Given the description of an element on the screen output the (x, y) to click on. 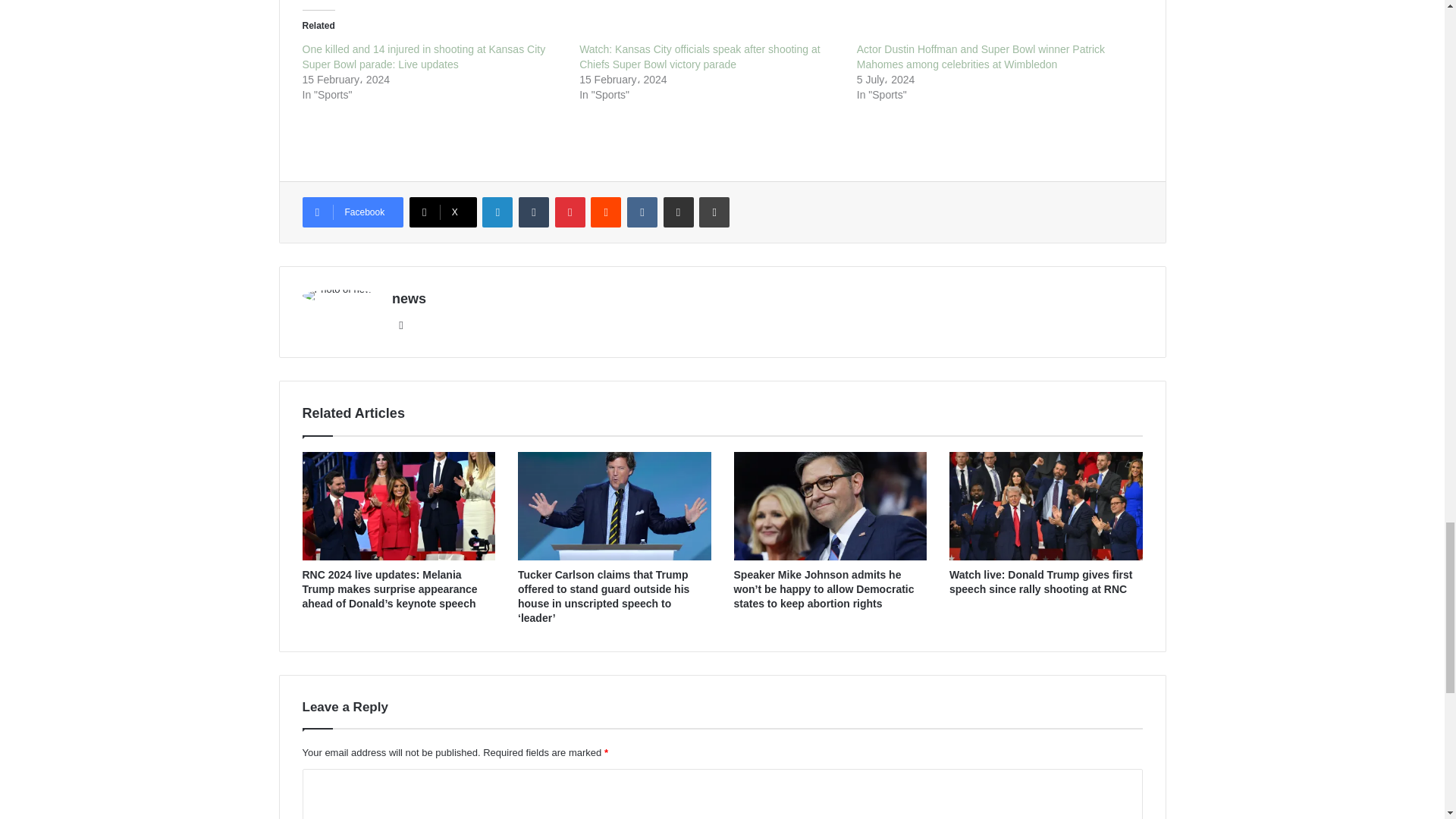
Reddit (606, 212)
Print (713, 212)
X (443, 212)
Share via Email (678, 212)
Pinterest (569, 212)
VKontakte (642, 212)
news (408, 298)
Facebook (352, 212)
Website (400, 325)
LinkedIn (496, 212)
